Given the description of an element on the screen output the (x, y) to click on. 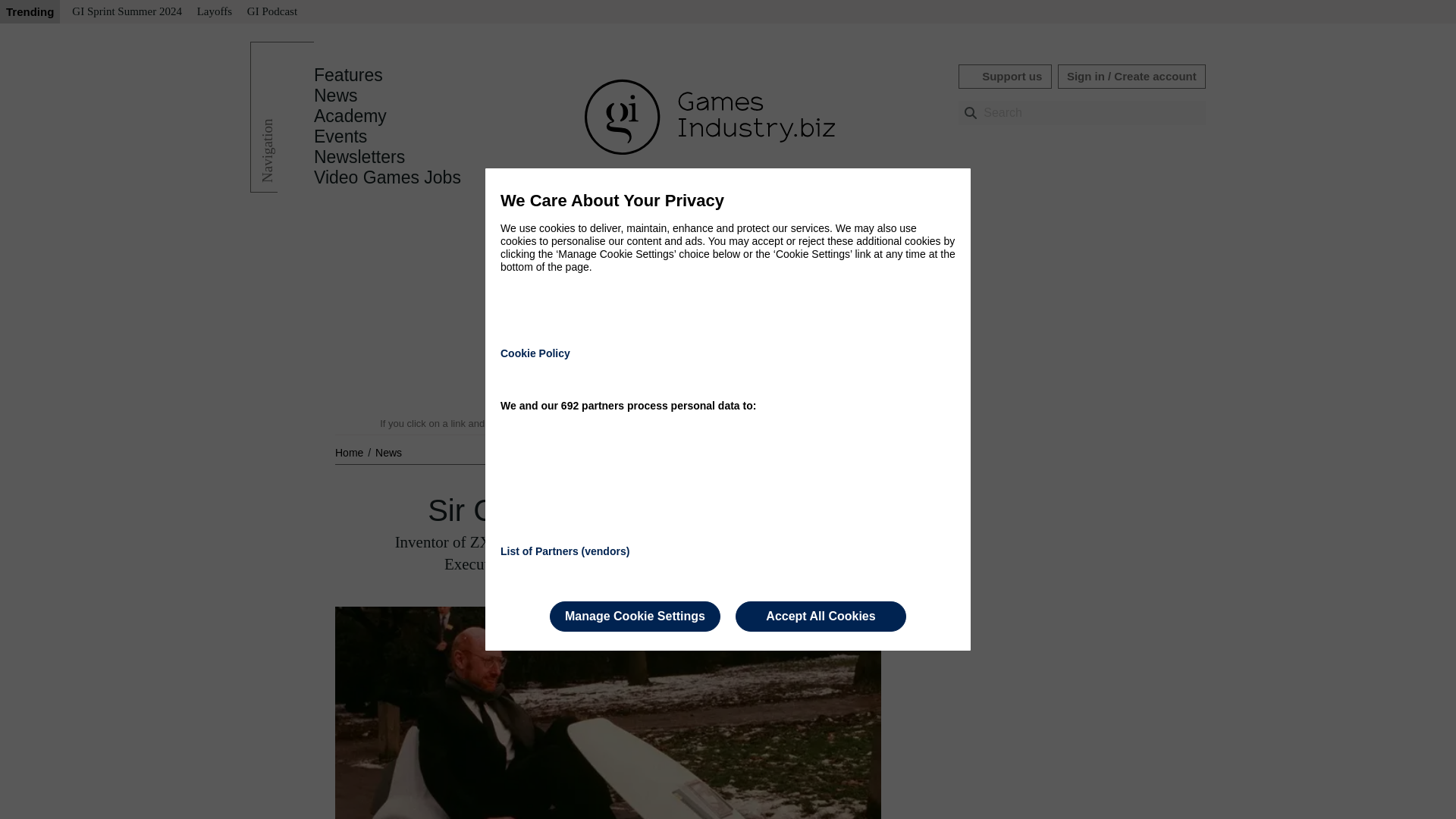
Read our editorial policy (781, 423)
Features (348, 75)
Features (348, 75)
Events (340, 136)
News (388, 452)
Video Games Jobs (387, 177)
Academy (350, 116)
GI Sprint Summer 2024 (126, 11)
Newsletters (359, 157)
Home (350, 452)
Layoffs (214, 11)
Newsletters (359, 157)
GI Sprint Summer 2024 (126, 11)
News (336, 95)
GI Podcast (271, 11)
